Given the description of an element on the screen output the (x, y) to click on. 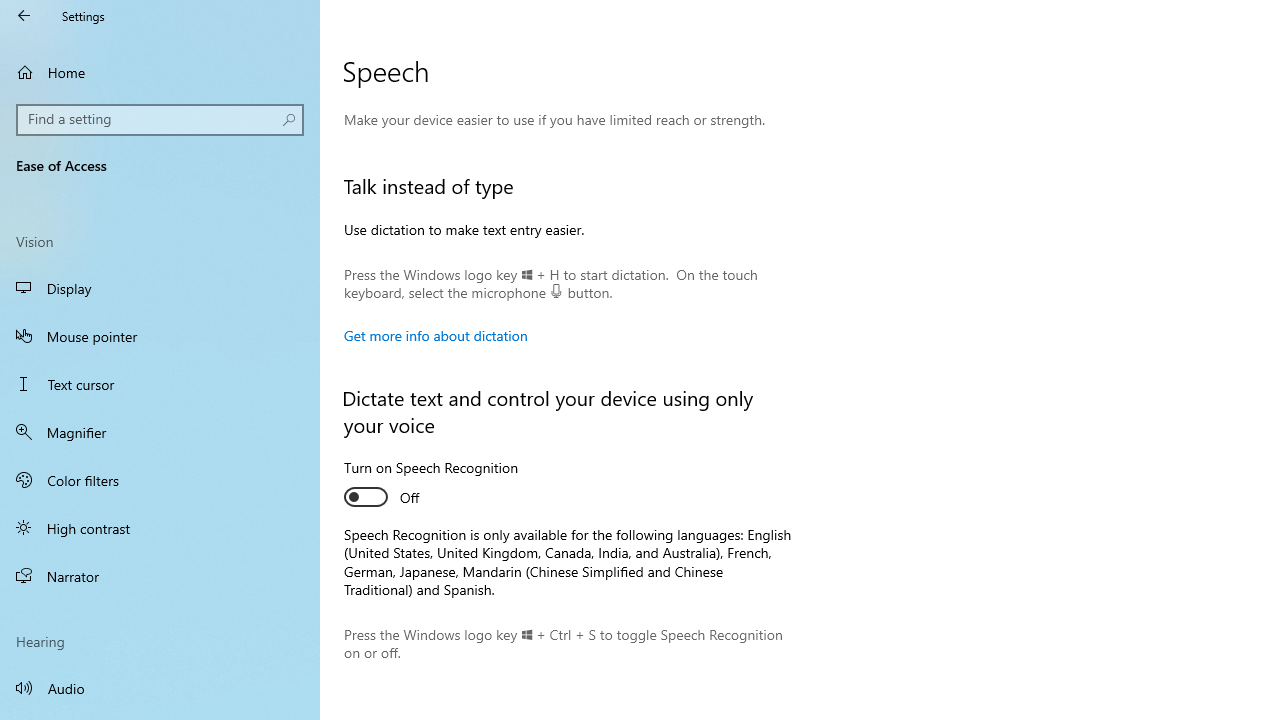
Text cursor (160, 384)
Audio (160, 687)
High contrast (160, 527)
Color filters (160, 479)
Display (160, 287)
Get more info about dictation (435, 335)
Mouse pointer (160, 335)
Narrator (160, 575)
Magnifier (160, 431)
Turn on Speech Recognition (431, 484)
